Given the description of an element on the screen output the (x, y) to click on. 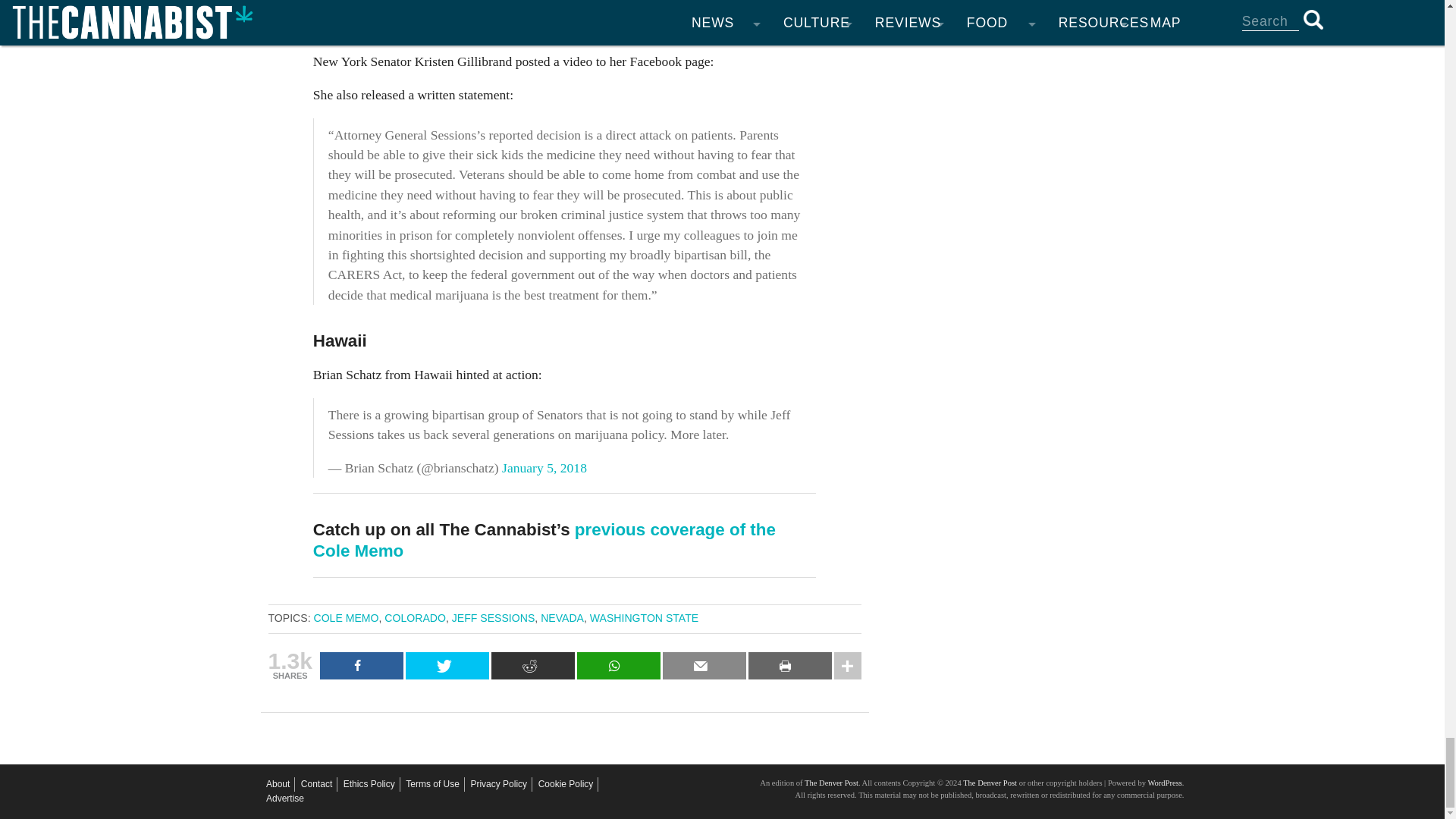
Denver Post Terms of Use (433, 784)
The Denver Post (989, 782)
Personal Publishing Platform (1163, 782)
Contact The Cannabist (316, 784)
About The Cannabist (277, 784)
Advertise on The Cannabist (285, 798)
Denver Post Privacy Policy (498, 784)
Denver Post Ethics Policy (368, 784)
The Denver Post (832, 782)
